Given the description of an element on the screen output the (x, y) to click on. 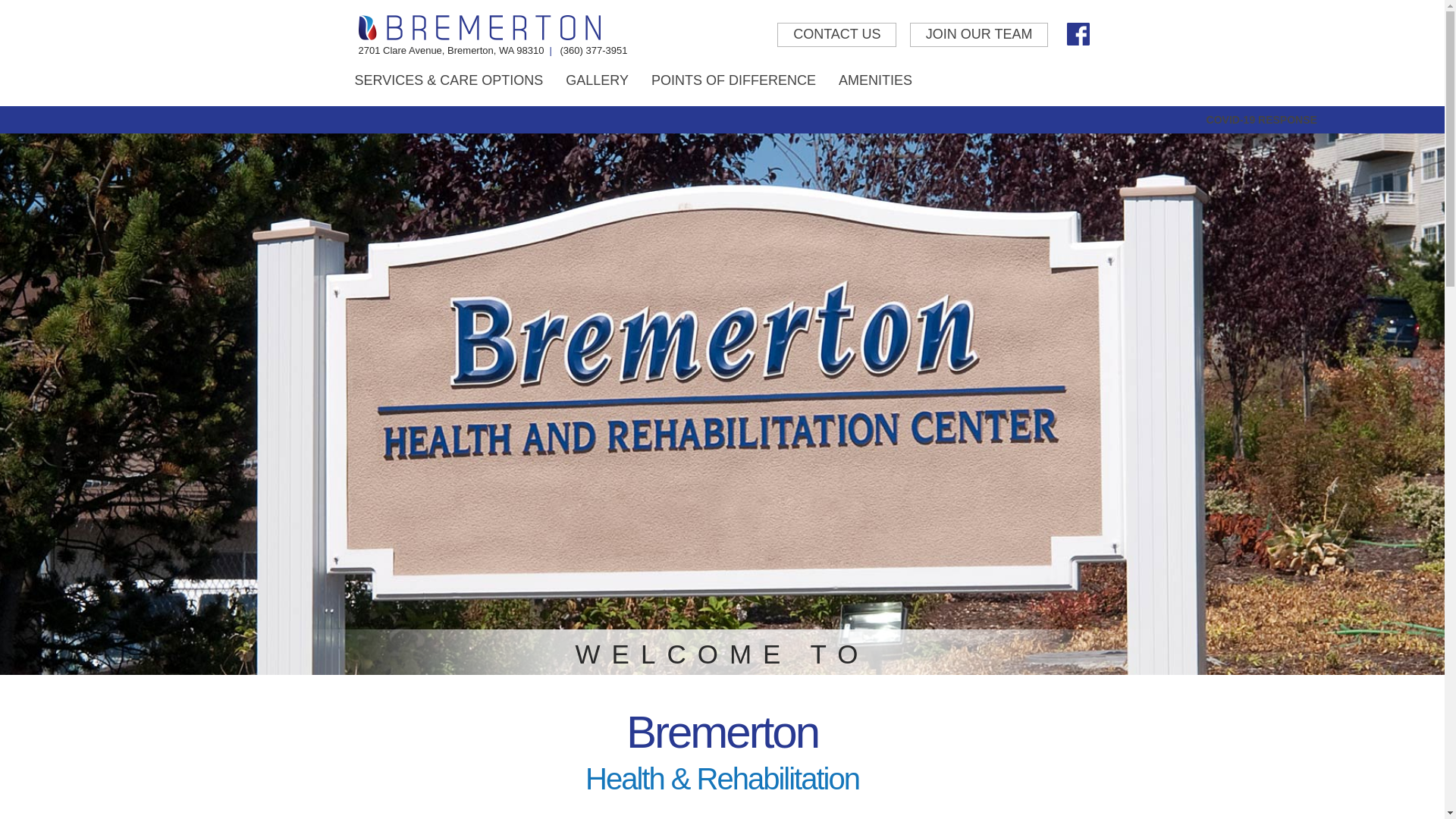
LIFE ENRICHMENT PROGRAMS (457, 116)
GALLERY (597, 80)
CONTACT US (836, 34)
JOIN OUR TEAM (979, 34)
COVID-19 RESPONSE (1261, 119)
Facebook (1078, 33)
POINTS OF DIFFERENCE (733, 80)
AMENITIES (875, 80)
